Given the description of an element on the screen output the (x, y) to click on. 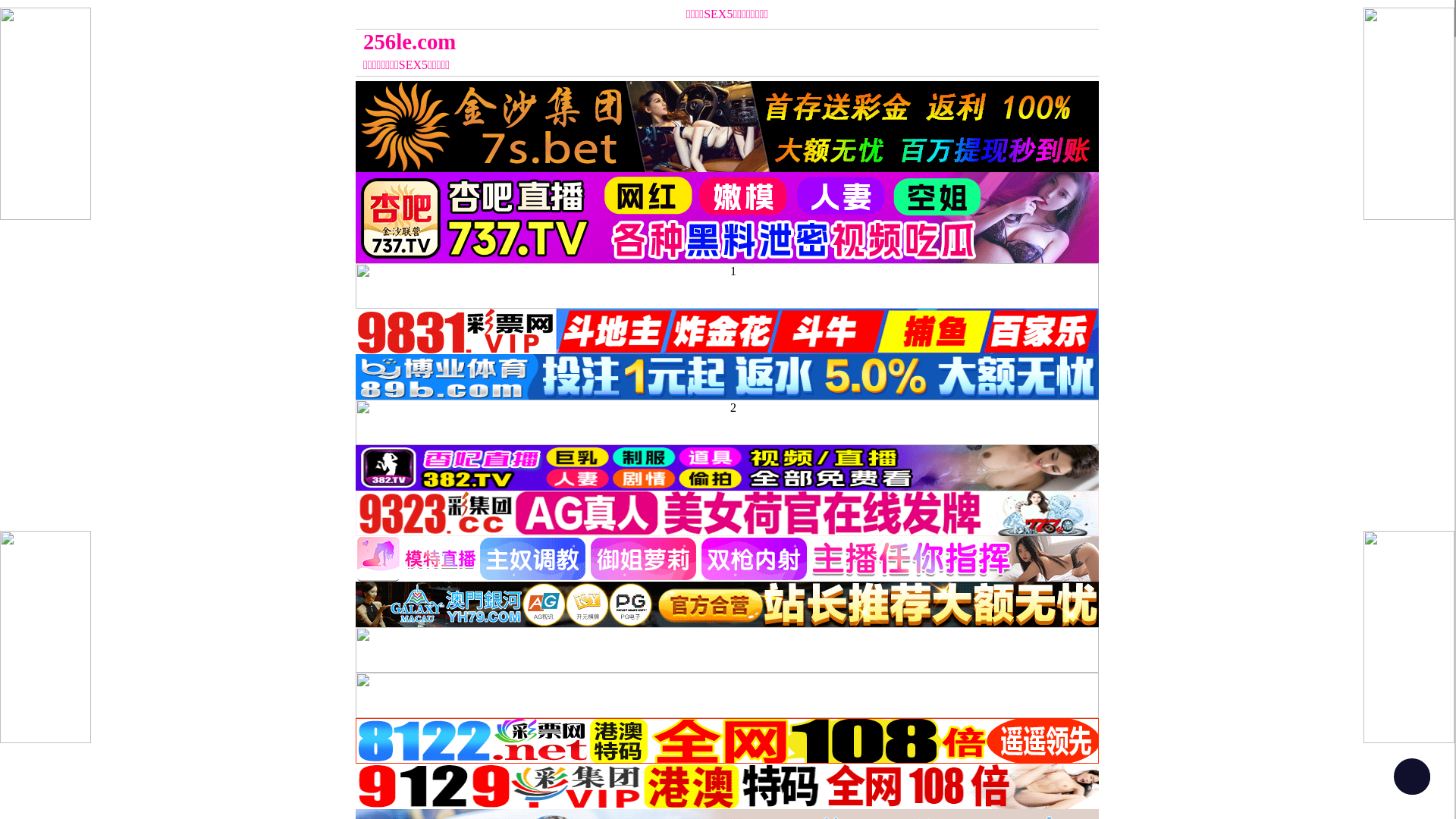
256le.com Element type: text (634, 41)
